Given the description of an element on the screen output the (x, y) to click on. 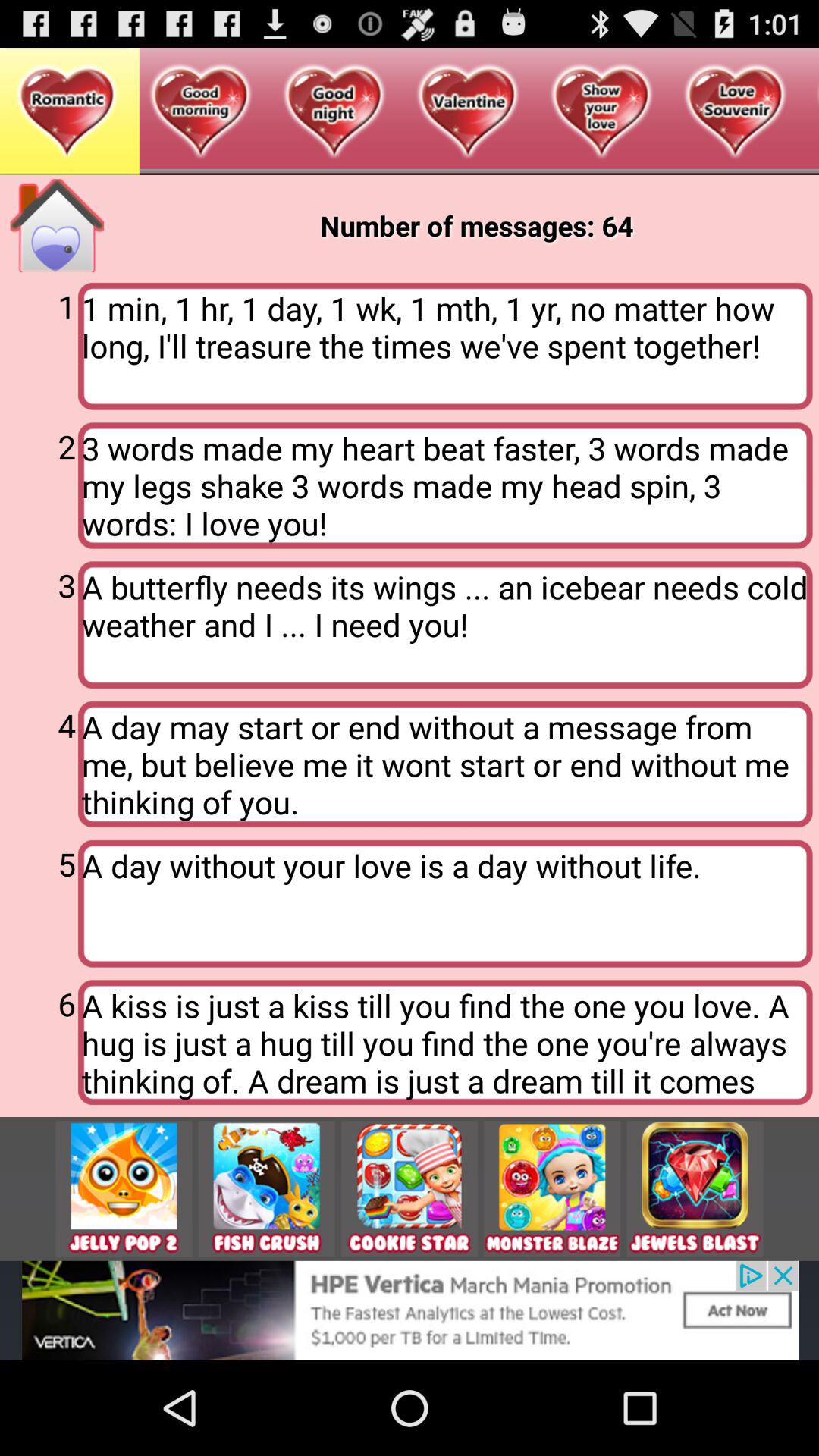
go home (57, 225)
